Given the description of an element on the screen output the (x, y) to click on. 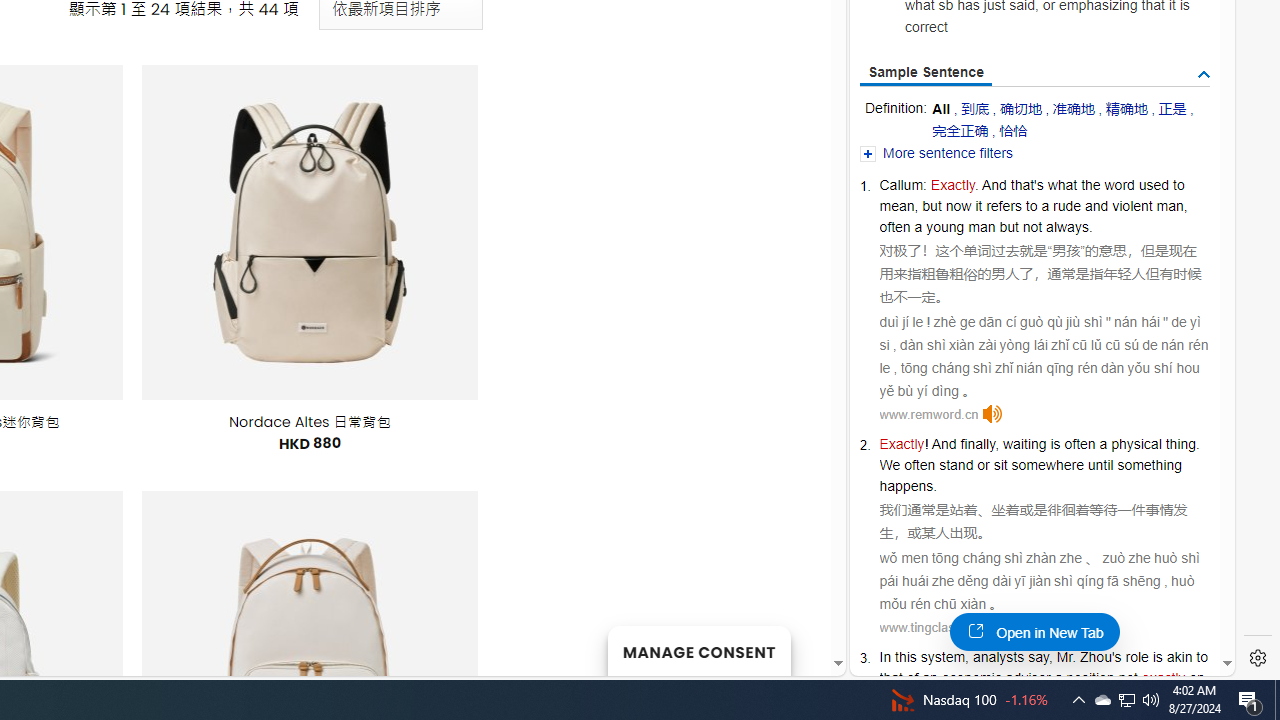
something (1149, 465)
is (1055, 444)
an (929, 678)
rude (1067, 205)
young (945, 226)
